Given the description of an element on the screen output the (x, y) to click on. 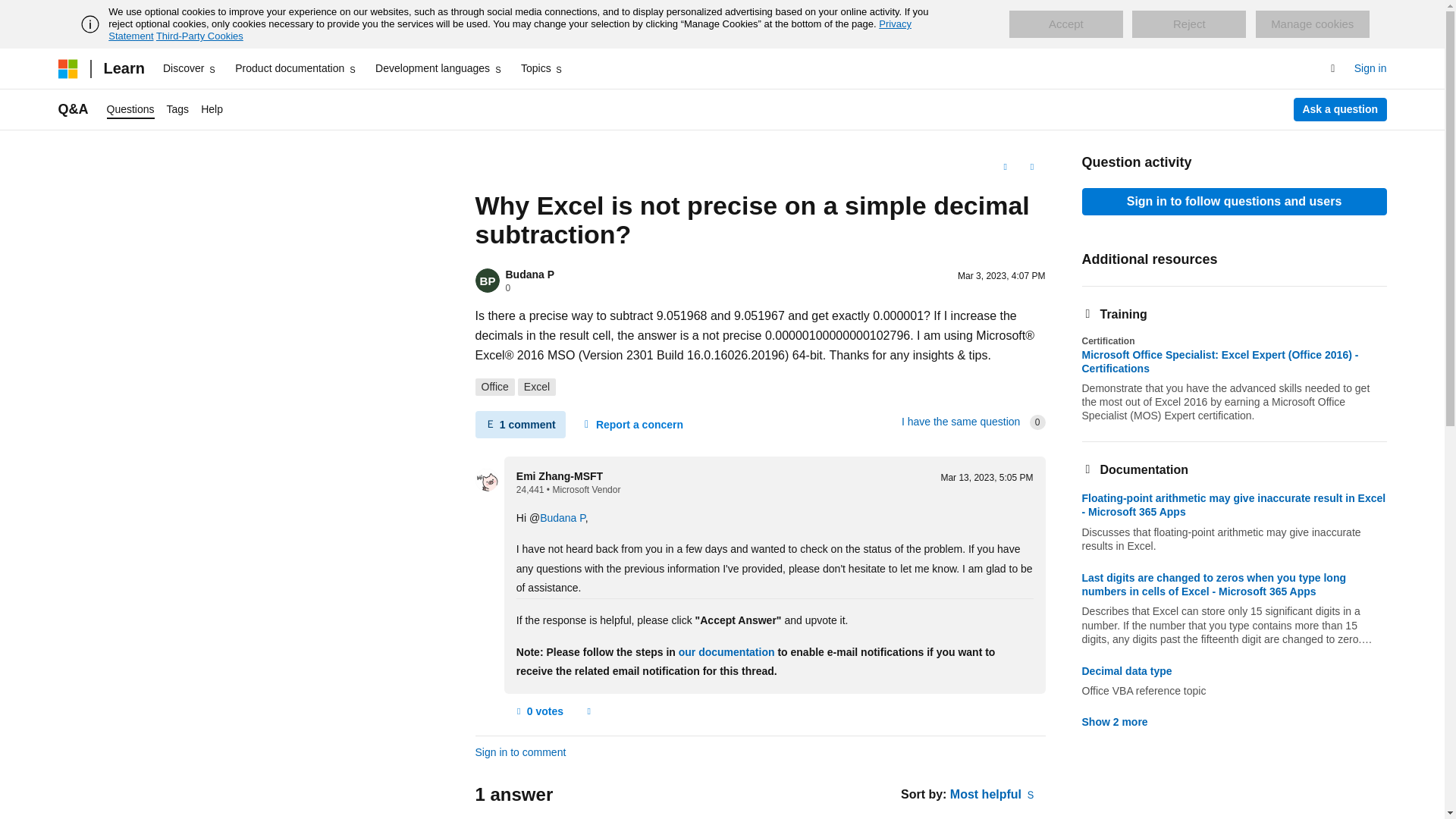
Skip to main content (11, 11)
Topics (542, 68)
This comment is helpful (538, 711)
Reputation points (530, 489)
Share this question (1031, 166)
Development languages (438, 68)
Budana P (529, 274)
Report a concern (588, 711)
Ask a question (1340, 109)
Manage cookies (1312, 23)
